Given the description of an element on the screen output the (x, y) to click on. 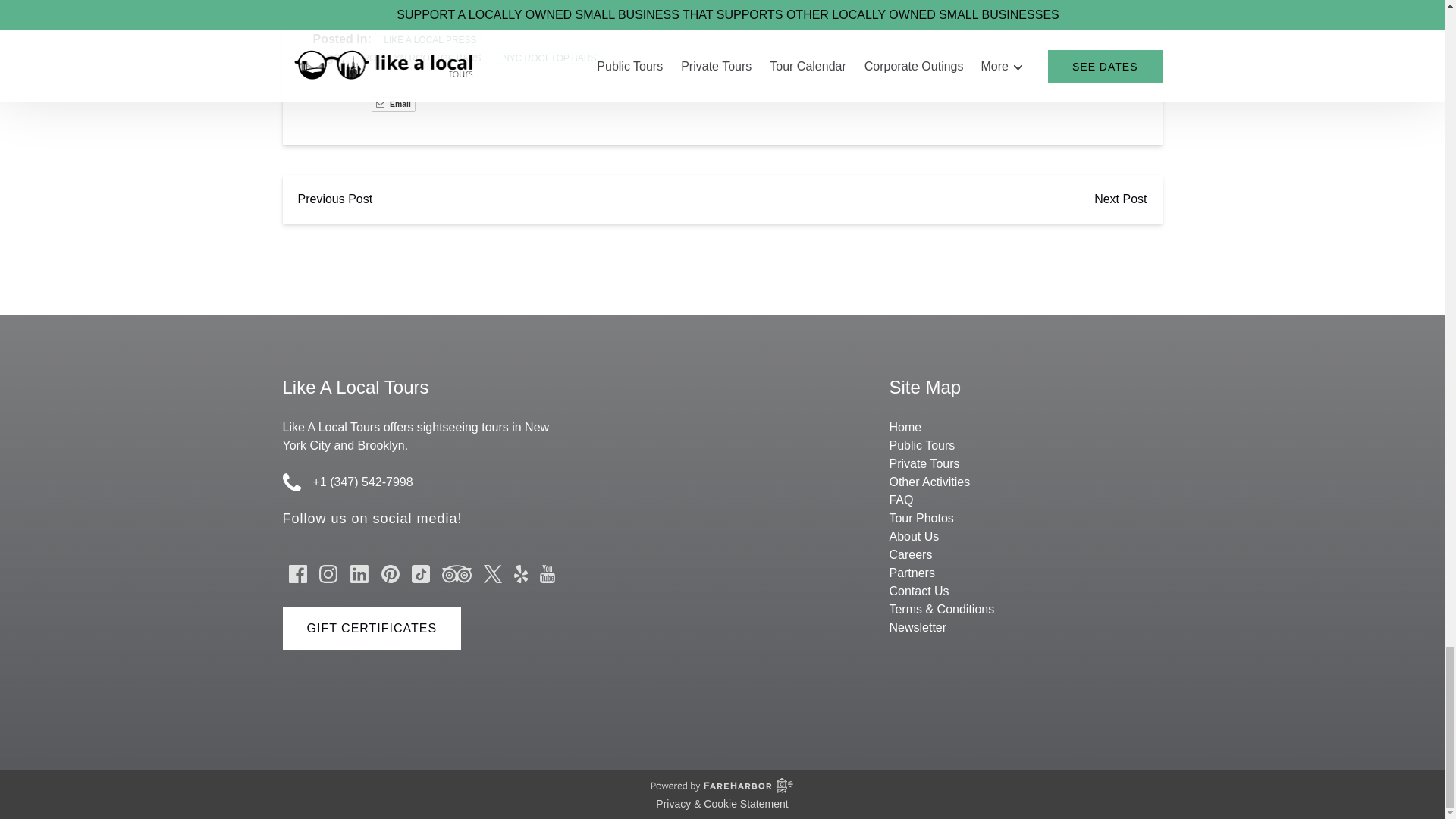
LIKE A LOCAL PRESS (429, 40)
See the article here (365, 4)
NYC ROOFTOP BARS (549, 58)
Phone (290, 482)
BROOKLYN ROOFTOP BARS (418, 58)
